Given the description of an element on the screen output the (x, y) to click on. 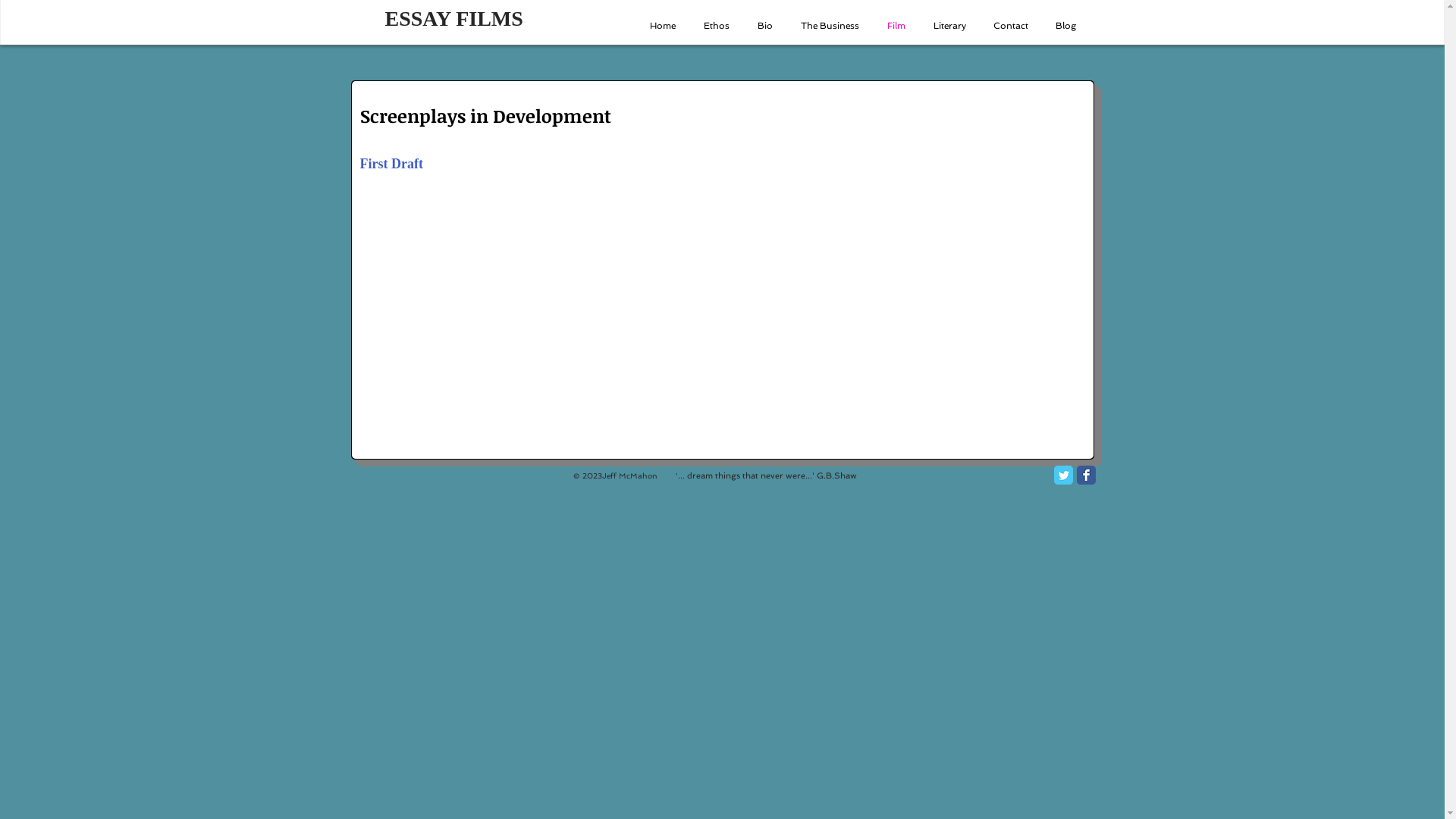
Blog Element type: text (1064, 25)
Bio Element type: text (762, 25)
Home Element type: text (660, 25)
The Business Element type: text (828, 25)
Ethos Element type: text (715, 25)
Film Element type: text (895, 25)
Literary Element type: text (947, 25)
Contact Element type: text (1009, 25)
